Given the description of an element on the screen output the (x, y) to click on. 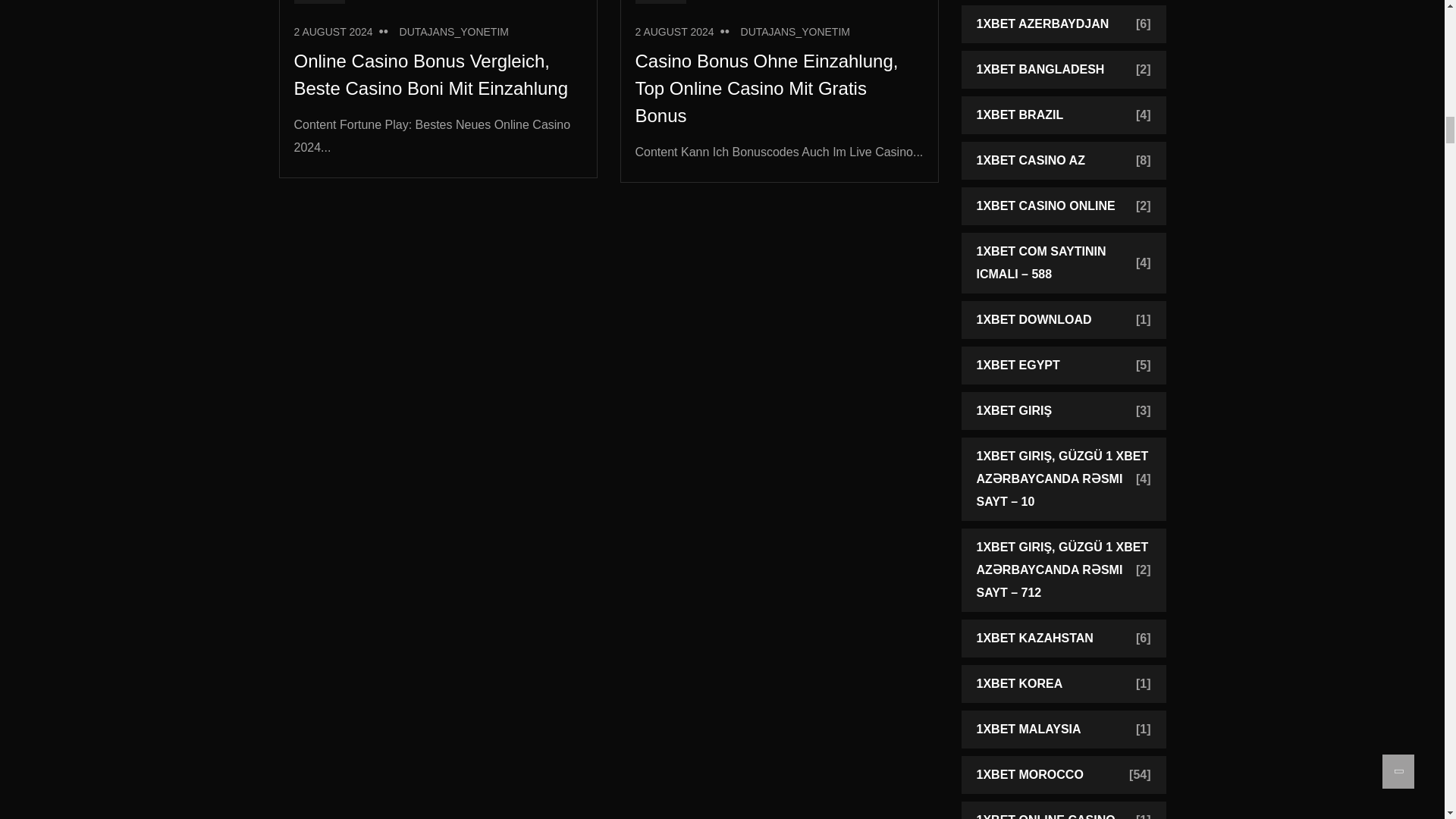
2 AUGUST 2024 (674, 31)
GENEL (320, 2)
2 AUGUST 2024 (333, 31)
GENEL (660, 2)
